Given the description of an element on the screen output the (x, y) to click on. 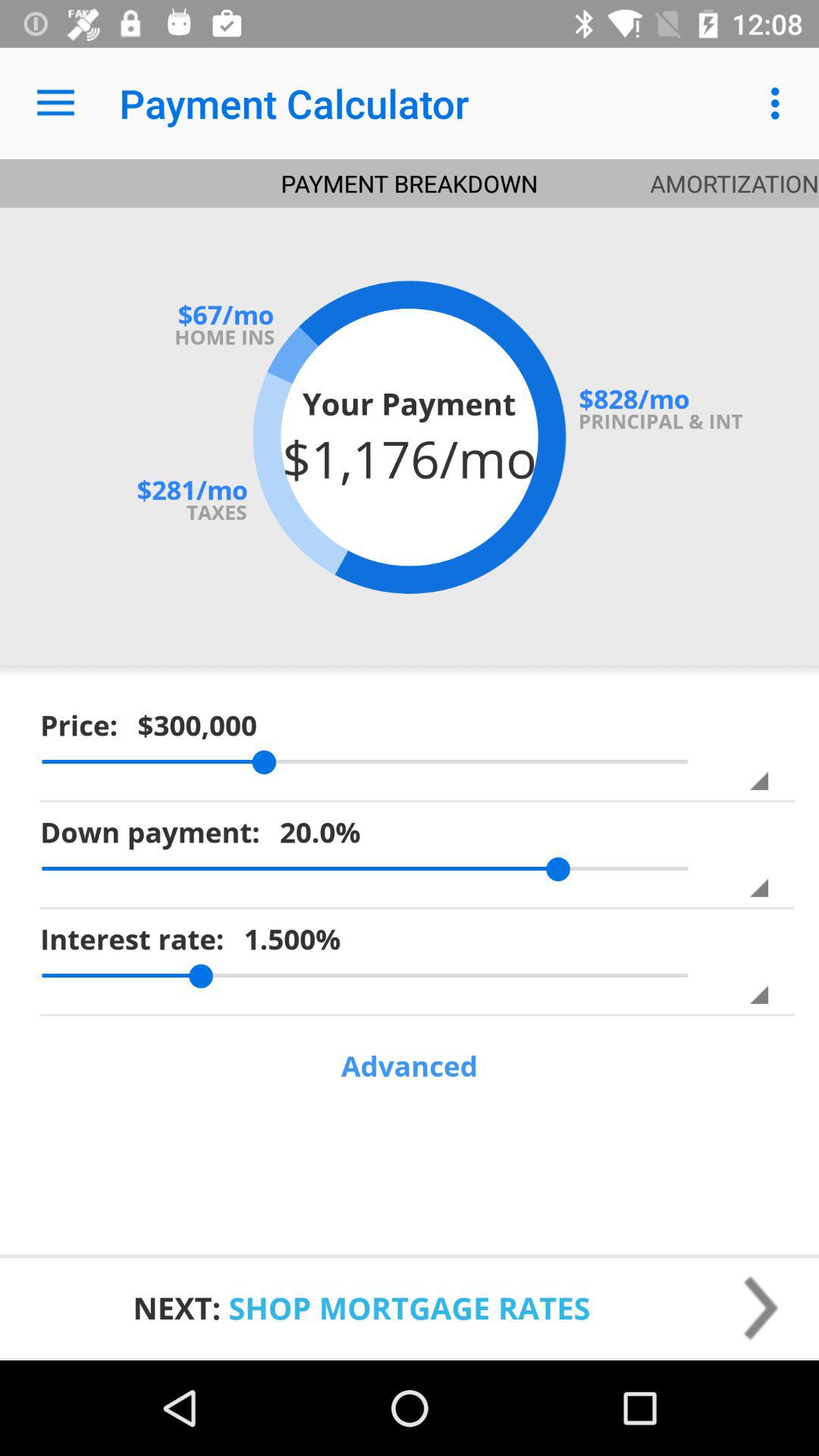
launch icon to the left of the payment calculator (55, 103)
